Given the description of an element on the screen output the (x, y) to click on. 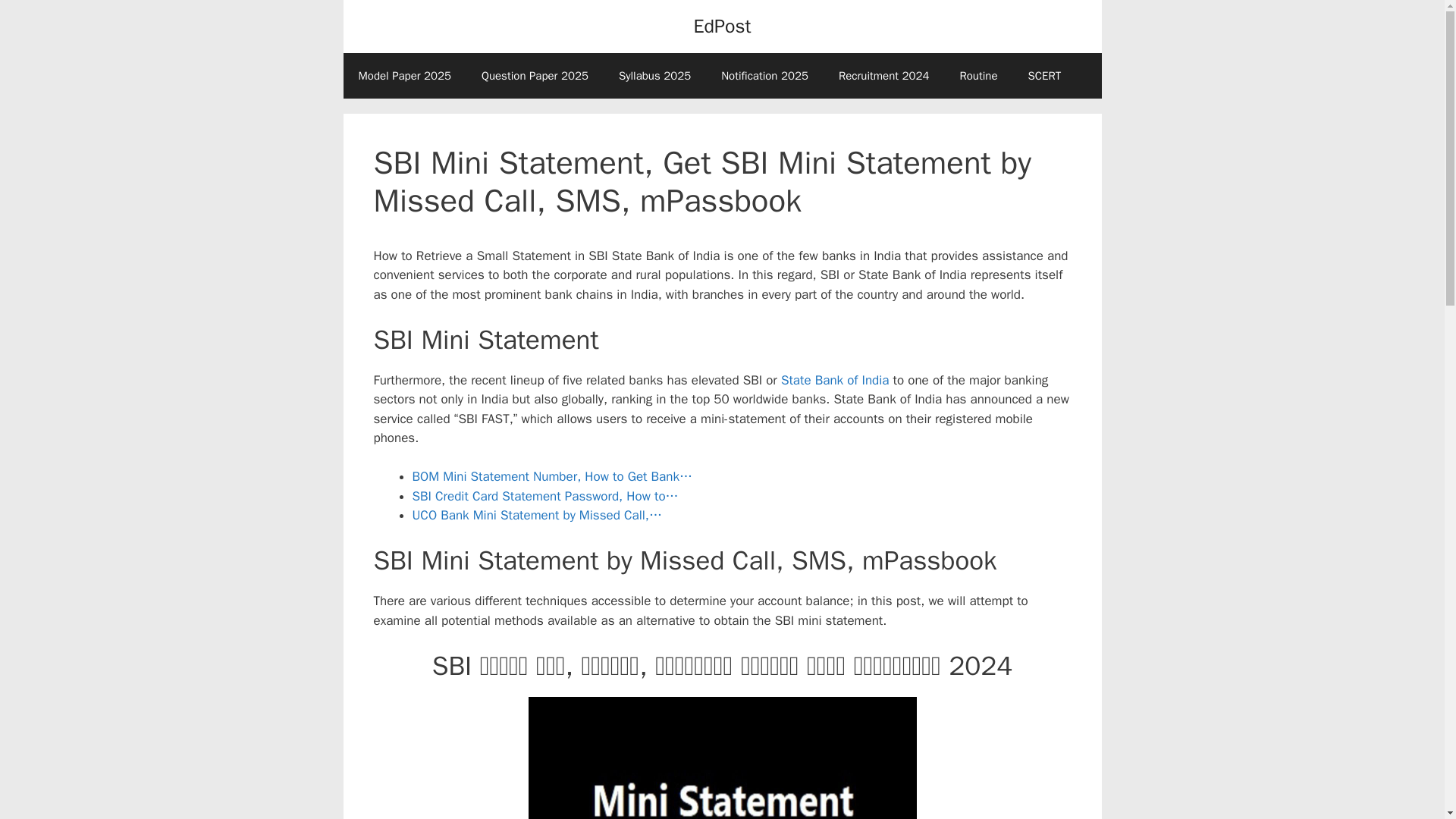
EdPost (722, 25)
SCERT (1045, 75)
Question Paper 2025 (534, 75)
Routine (977, 75)
Recruitment 2024 (884, 75)
Syllabus 2025 (655, 75)
State Bank of India (834, 380)
Notification 2025 (765, 75)
Model Paper 2025 (403, 75)
